Given the description of an element on the screen output the (x, y) to click on. 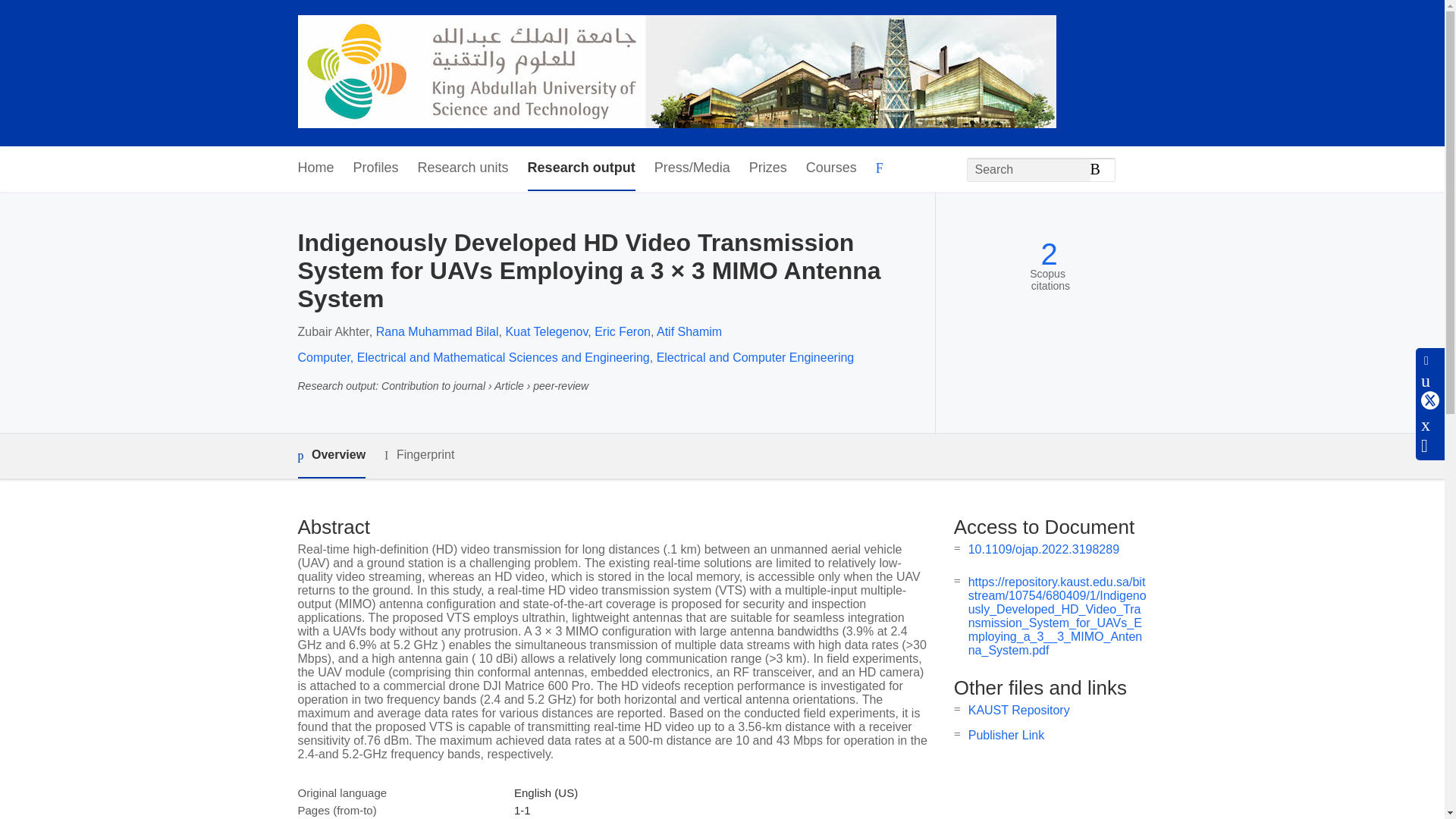
KAUST Repository (1019, 709)
Overview (331, 456)
Research output (580, 168)
Electrical and Computer Engineering (755, 357)
Atif Shamim (689, 331)
Profiles (375, 168)
Publisher Link (1006, 735)
Courses (831, 168)
Research units (462, 168)
KAUST PORTAL FOR RESEARCHERS AND STUDENTS Home (676, 73)
Kuat Telegenov (546, 331)
Eric Feron (622, 331)
Fingerprint (419, 455)
